Given the description of an element on the screen output the (x, y) to click on. 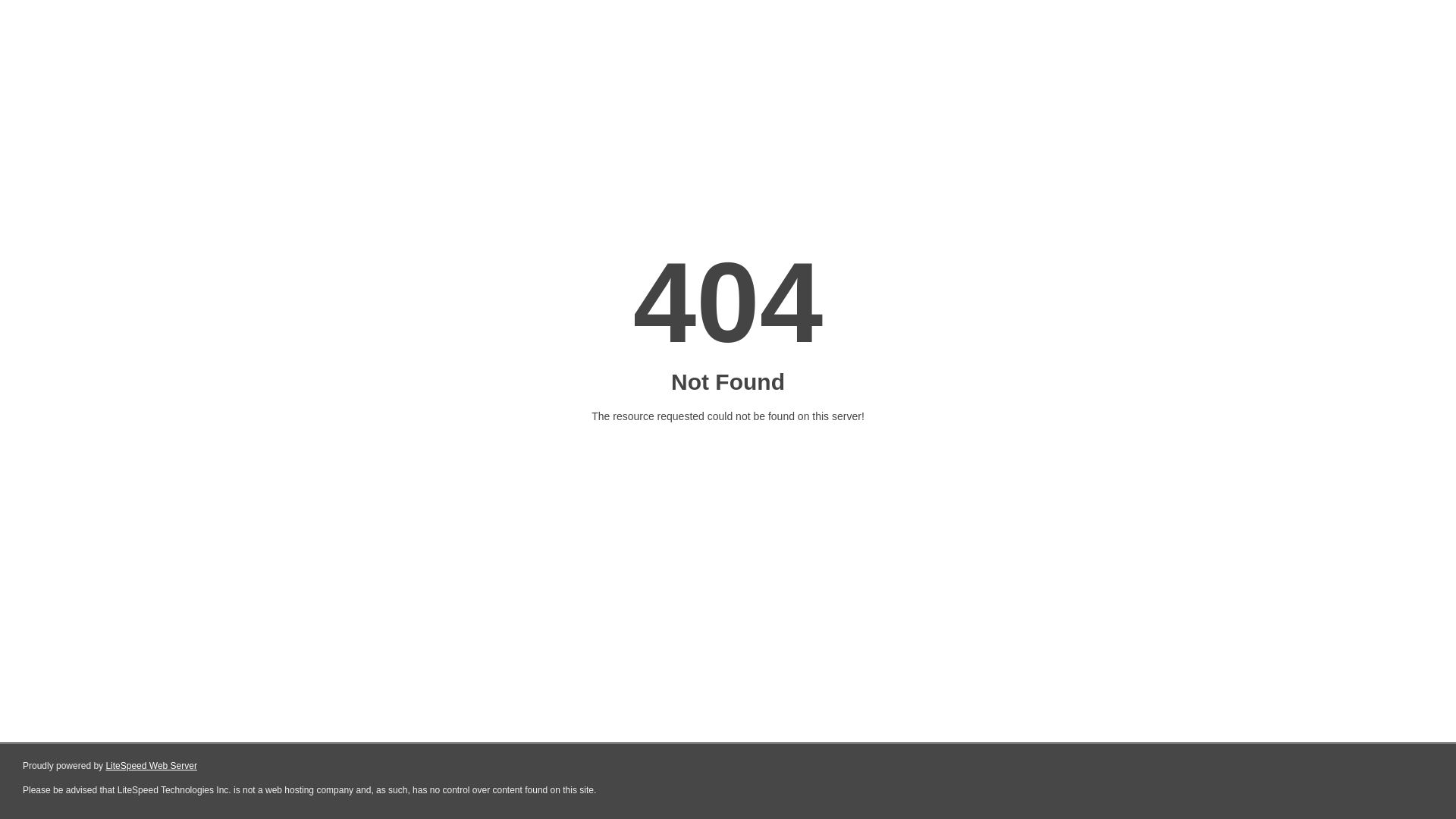
LiteSpeed Web Server Element type: text (151, 765)
